Given the description of an element on the screen output the (x, y) to click on. 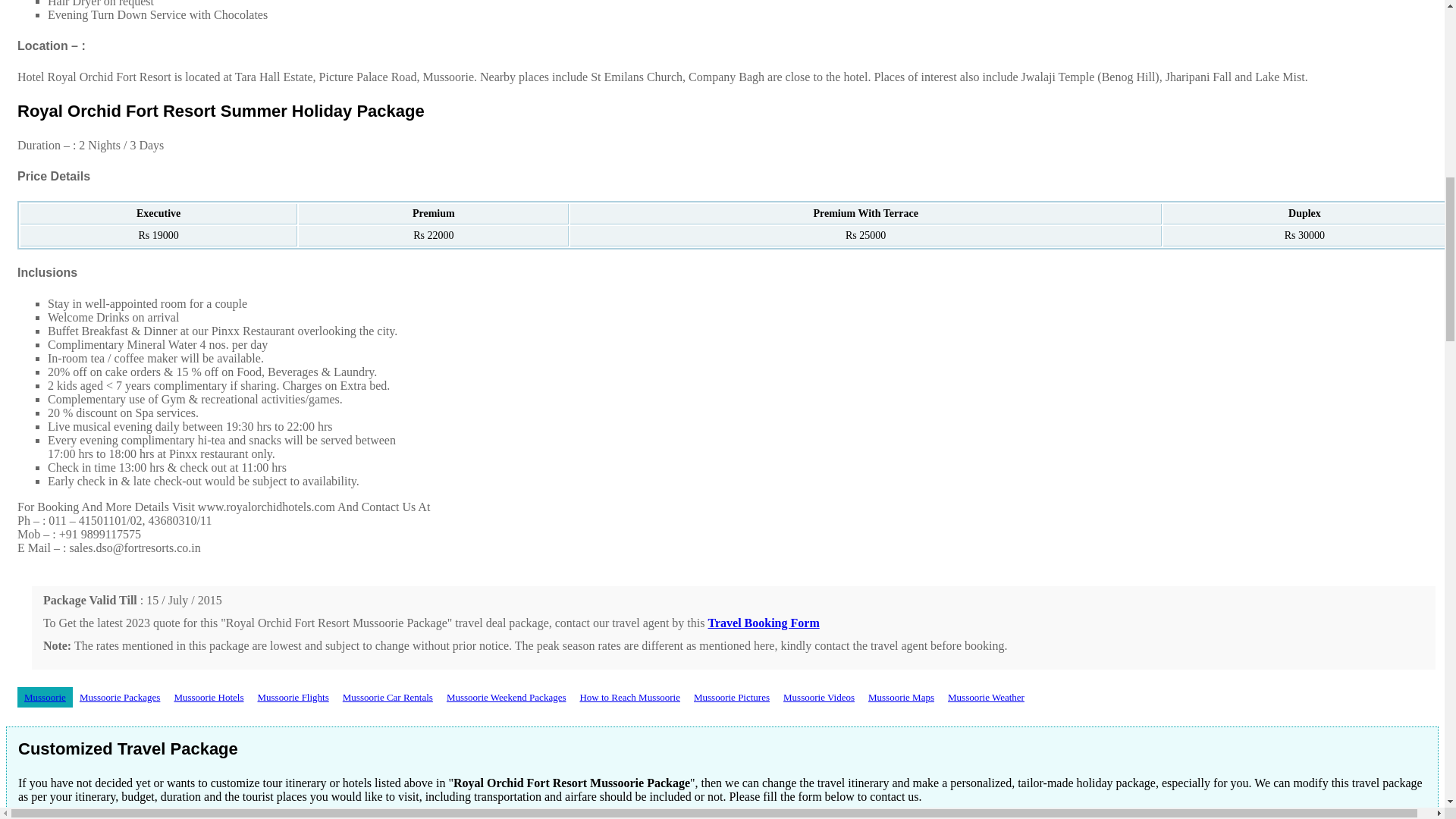
Mussoorie Hotels (208, 697)
Mussoorie (44, 697)
Travel Booking Form (762, 622)
Mussoorie Car Rentals (387, 697)
Mussoorie Weekend Packages (506, 697)
Mussoorie Packages (119, 697)
Mussoorie Flights (292, 697)
